Given the description of an element on the screen output the (x, y) to click on. 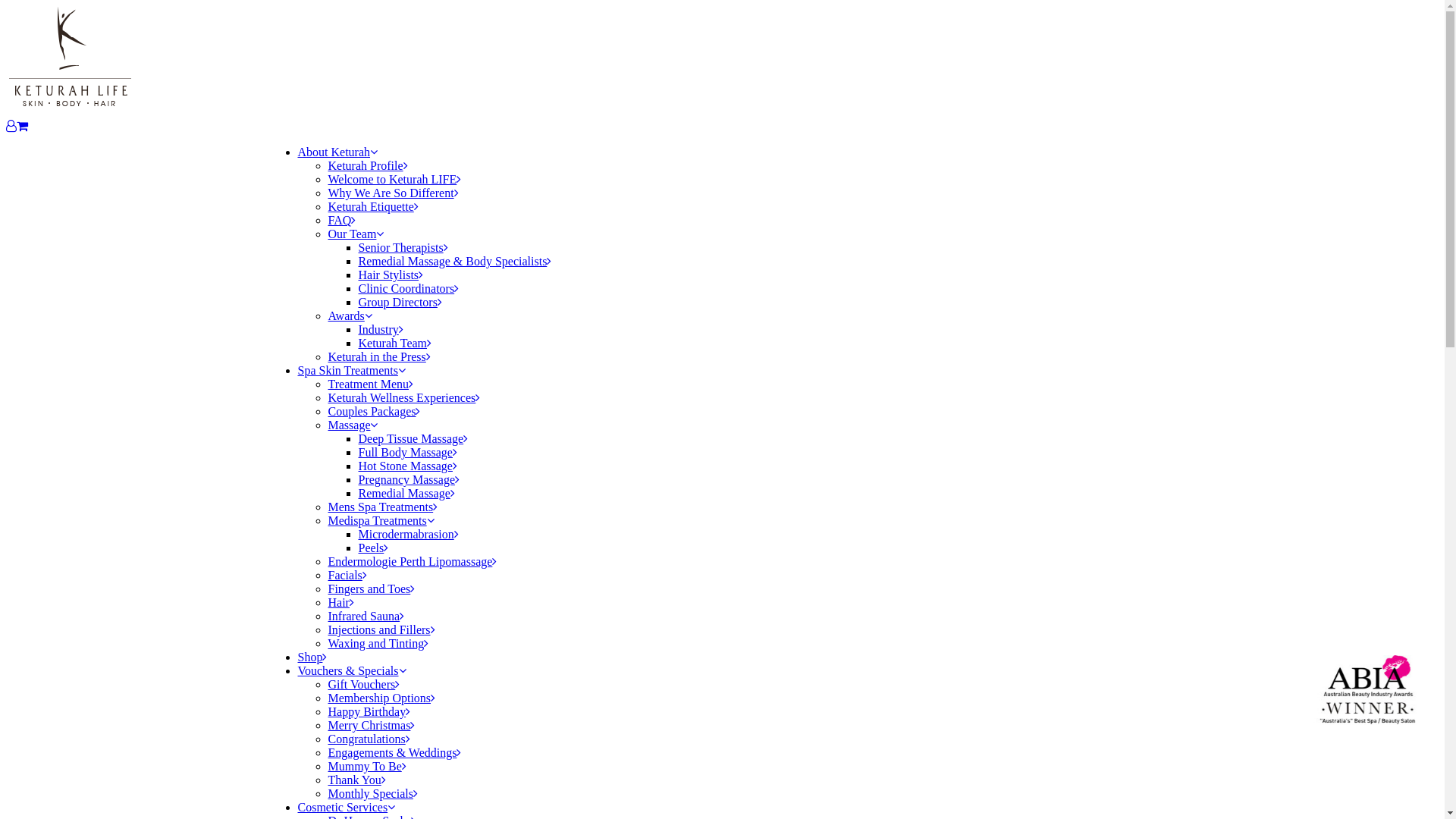
Injections and Fillers Element type: text (380, 629)
Shop Element type: text (311, 656)
Spa Skin Treatments Element type: text (350, 370)
Cosmetic Services Element type: text (346, 806)
Couples Packages Element type: text (373, 410)
Hair Element type: text (340, 602)
About Keturah Element type: text (337, 151)
Keturah Team Element type: text (394, 342)
Senior Therapists Element type: text (402, 247)
Peels Element type: text (372, 547)
Pregnancy Massage Element type: text (408, 479)
Membership Options Element type: text (381, 697)
Remedial Massage Element type: text (405, 492)
Infrared Sauna Element type: text (365, 615)
Hair Stylists Element type: text (390, 274)
Industry Element type: text (379, 329)
Microdermabrasion Element type: text (407, 533)
Group Directors Element type: text (399, 301)
Treatment Menu Element type: text (370, 383)
Gift Vouchers Element type: text (363, 683)
Keturah Profile Element type: text (367, 165)
Happy Birthday Element type: text (368, 711)
Keturah Etiquette Element type: text (372, 206)
Our Team Element type: text (355, 233)
Awards Element type: text (349, 315)
Mens Spa Treatments Element type: text (382, 506)
Vouchers & Specials Element type: text (351, 670)
Waxing and Tinting Element type: text (377, 643)
Medispa Treatments Element type: text (380, 520)
Endermologie Perth Lipomassage Element type: text (411, 561)
Facials Element type: text (346, 574)
Thank You Element type: text (356, 779)
Keturah in the Press Element type: text (378, 356)
FAQ Element type: text (341, 219)
Hot Stone Massage Element type: text (406, 465)
Monthly Specials Element type: text (372, 793)
Congratulations Element type: text (368, 738)
Welcome to Keturah LIFE Element type: text (394, 178)
Remedial Massage & Body Specialists Element type: text (454, 260)
Merry Christmas Element type: text (370, 724)
Engagements & Weddings Element type: text (394, 752)
Massage Element type: text (352, 424)
Keturah Wellness Experiences Element type: text (403, 397)
Deep Tissue Massage Element type: text (412, 438)
Clinic Coordinators Element type: text (407, 288)
Why We Are So Different Element type: text (392, 192)
Full Body Massage Element type: text (406, 451)
Fingers and Toes Element type: text (370, 588)
Mummy To Be Element type: text (366, 765)
